Given the description of an element on the screen output the (x, y) to click on. 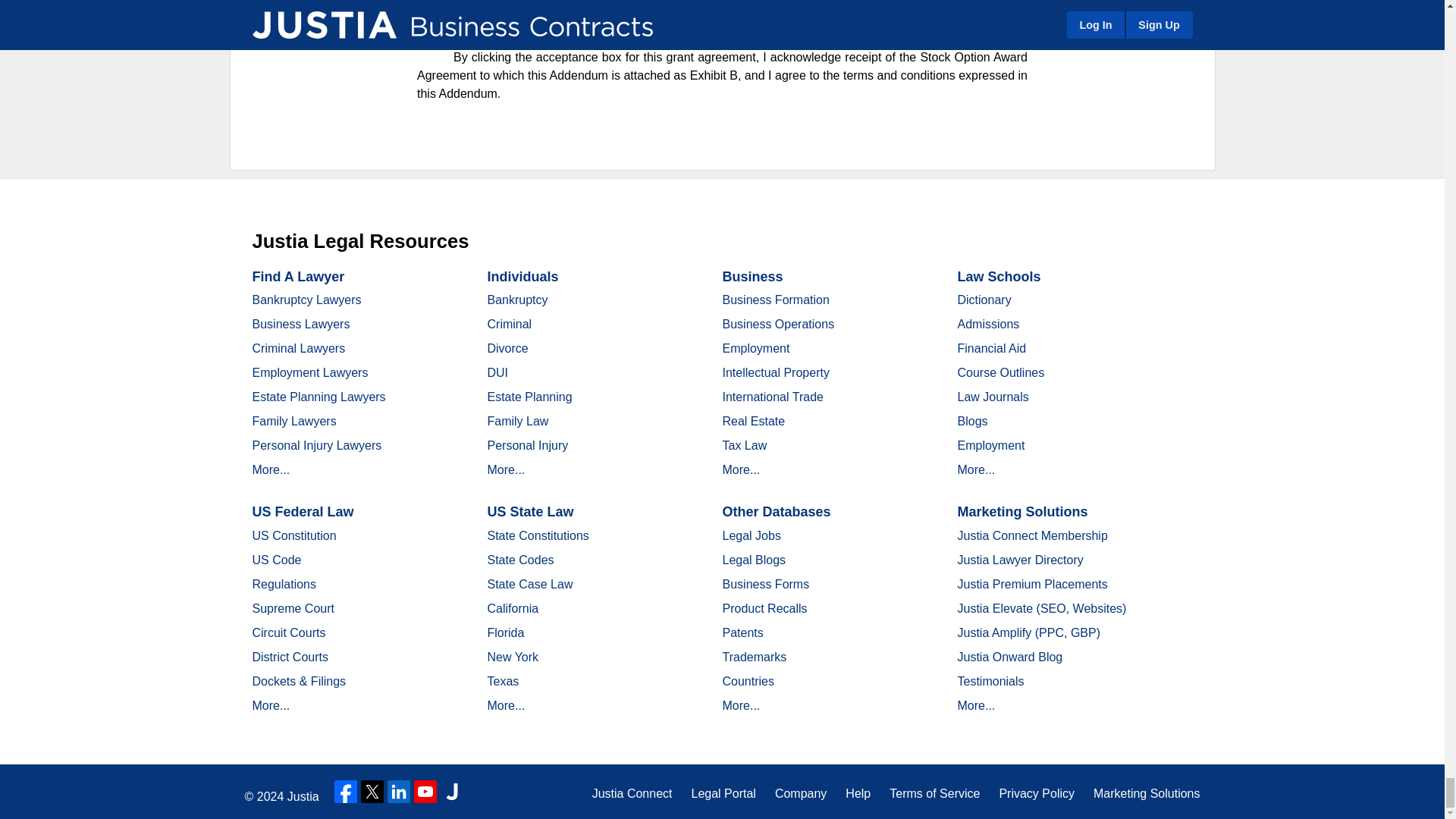
Facebook (345, 791)
Justia Lawyer Directory (452, 791)
Family Lawyers (293, 420)
Criminal Lawyers (298, 348)
Twitter (372, 791)
Employment Lawyers (309, 372)
Personal Injury Lawyers (316, 445)
Bankruptcy Lawyers (306, 299)
Business Lawyers (300, 323)
Estate Planning Lawyers (318, 396)
Find A Lawyer (297, 276)
YouTube (424, 791)
LinkedIn (398, 791)
More... (270, 469)
